Given the description of an element on the screen output the (x, y) to click on. 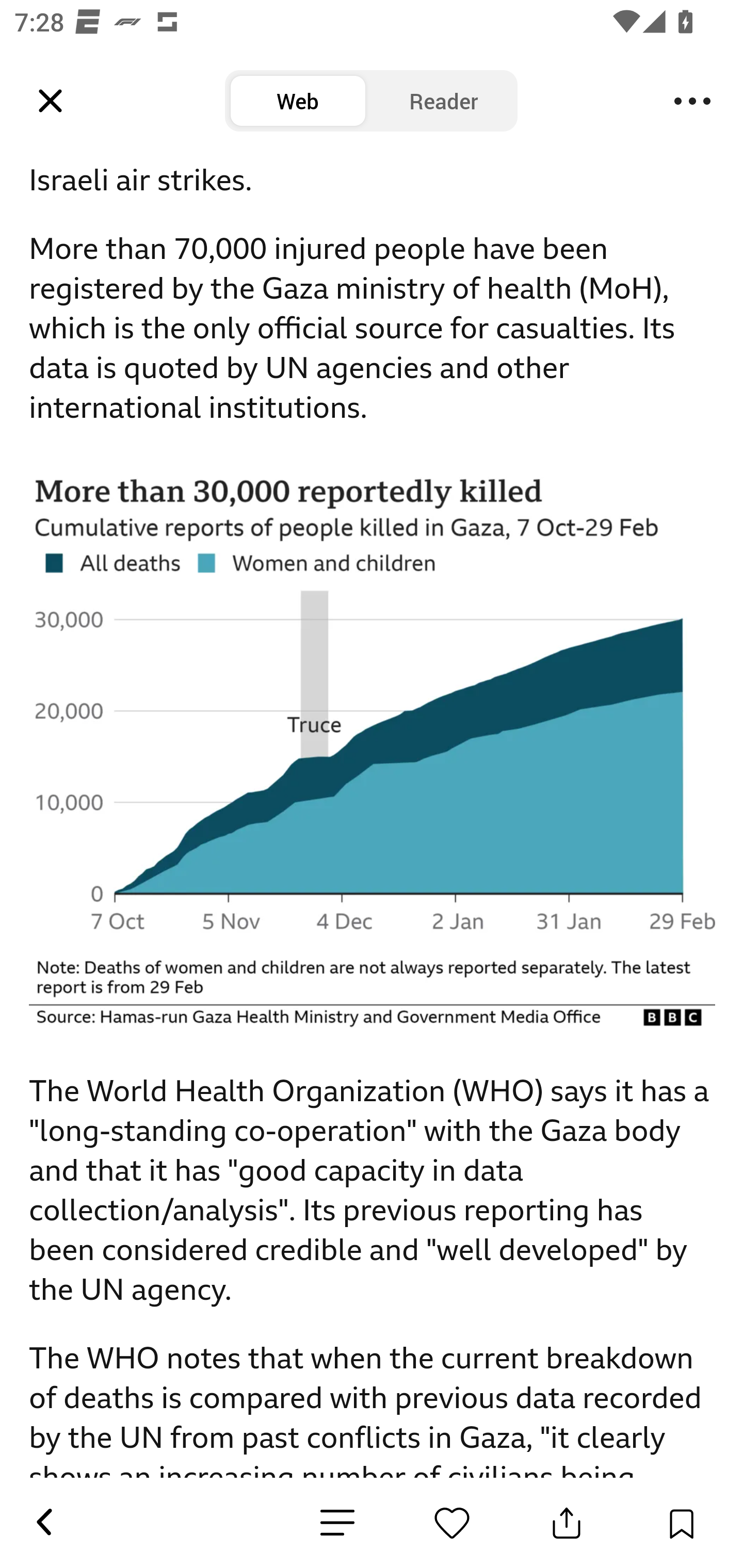
Leading Icon (50, 101)
Reader (443, 101)
Menu (692, 101)
Back Button (43, 1523)
News Detail Emotion (451, 1523)
Share Button (566, 1523)
Save Button (680, 1523)
News Detail Emotion (337, 1523)
